Given the description of an element on the screen output the (x, y) to click on. 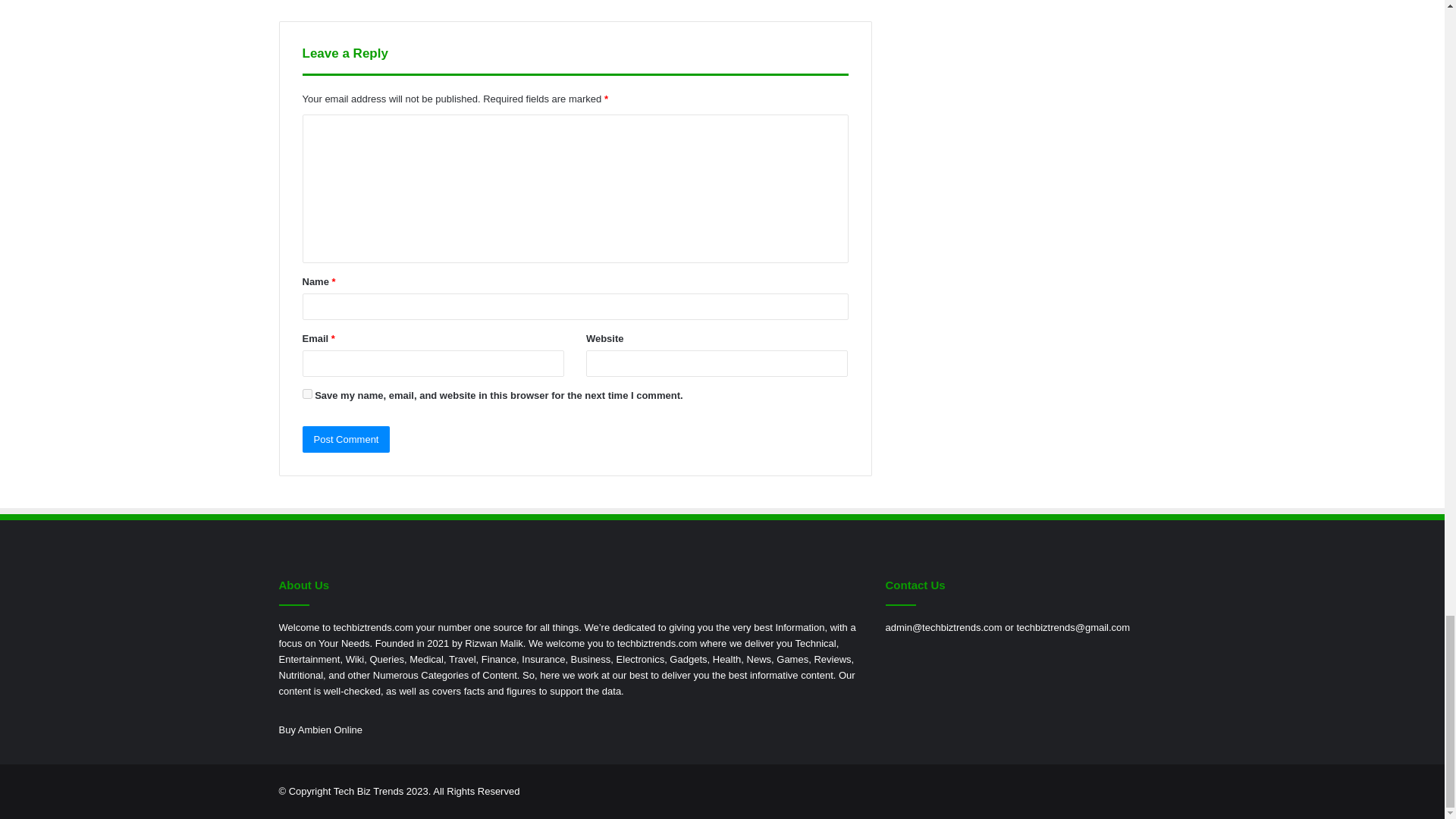
Post Comment (345, 438)
yes (306, 393)
